Given the description of an element on the screen output the (x, y) to click on. 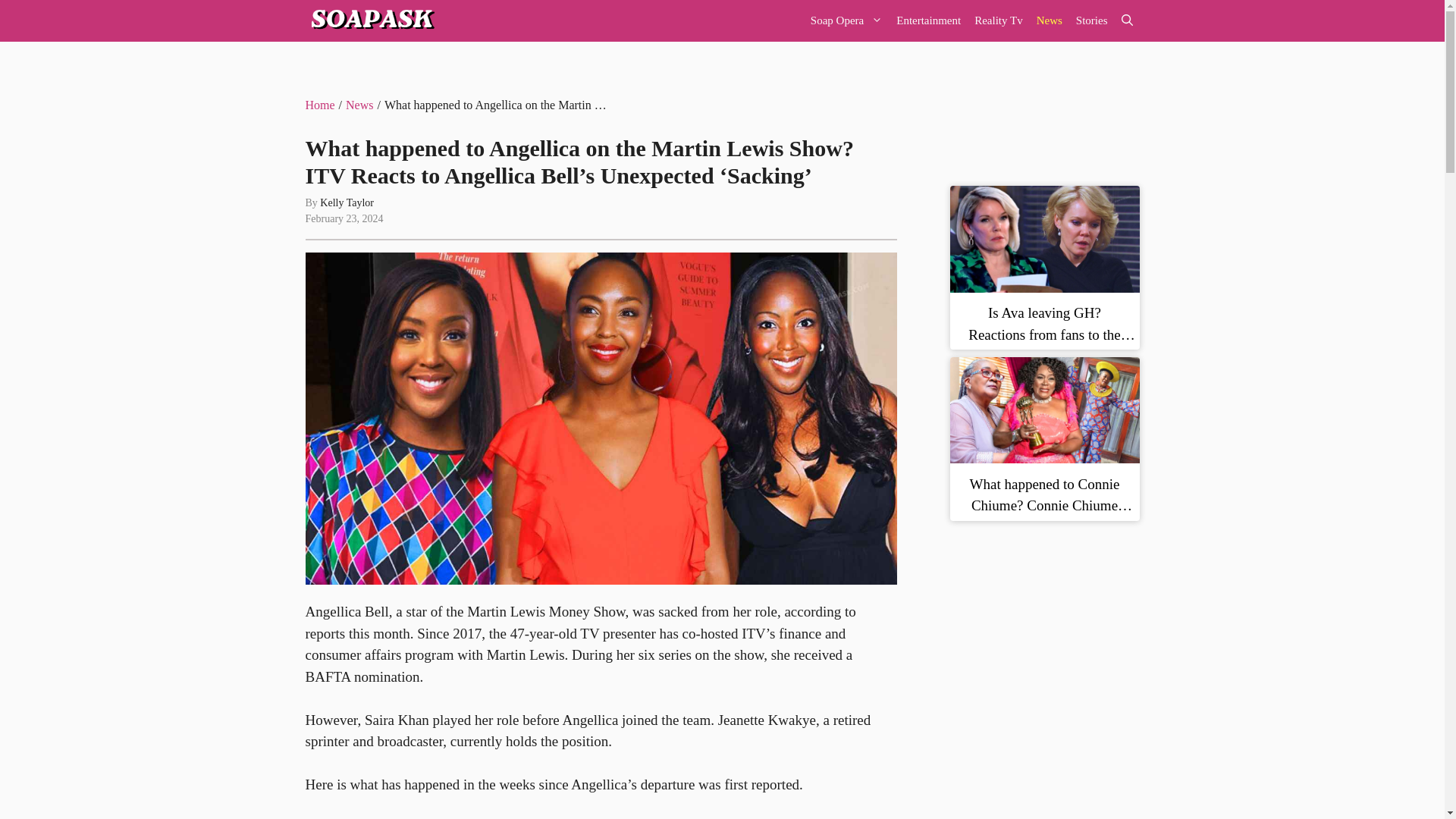
SoapAsk (370, 20)
View all posts by Kelly Taylor (347, 202)
Soap Opera (846, 20)
